Given the description of an element on the screen output the (x, y) to click on. 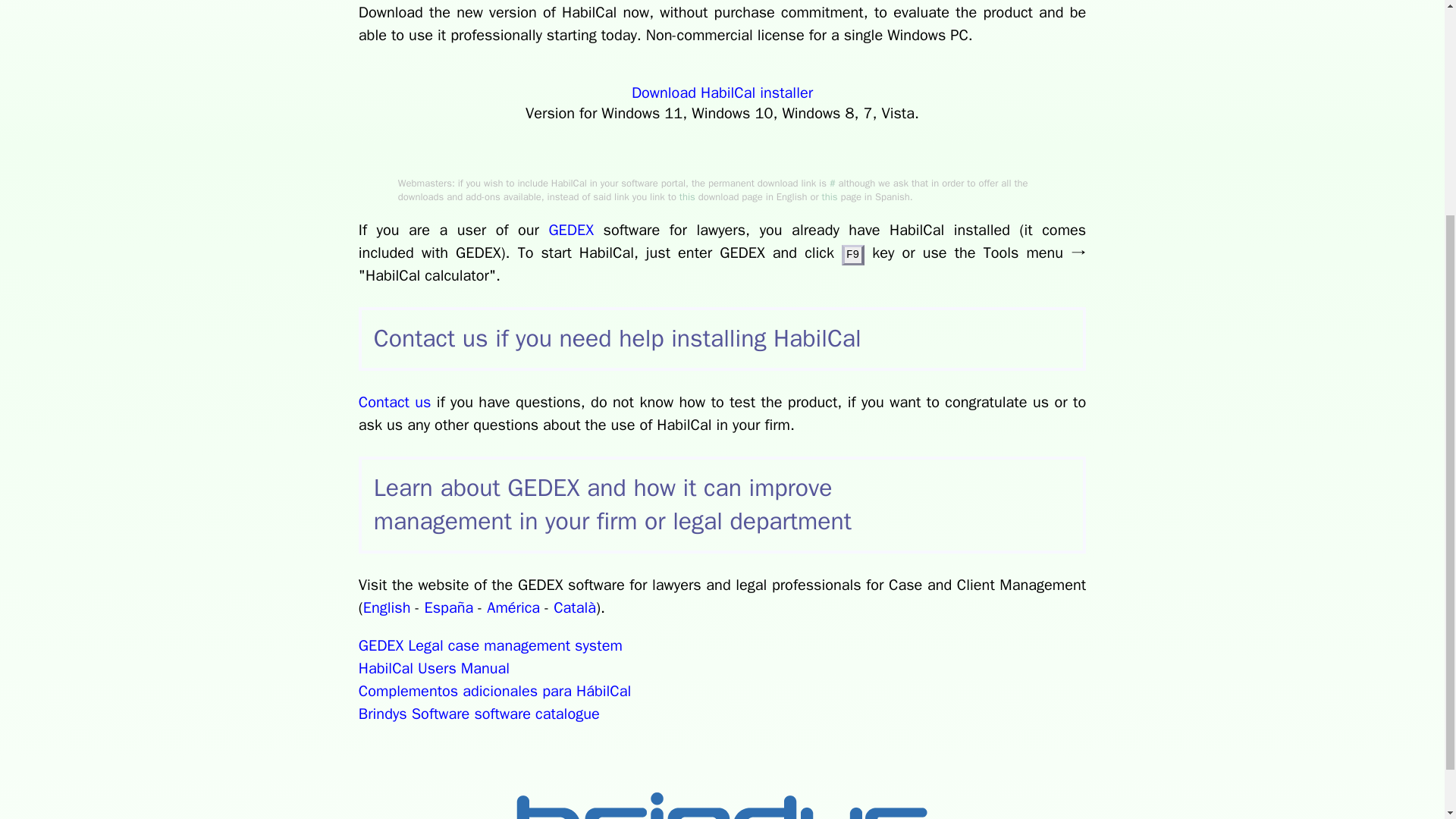
HabilCal Users Manual (433, 668)
GEDEX Legal case management system (490, 645)
English (386, 607)
Contact us (394, 402)
GEDEX (571, 229)
Brindys Software software catalogue (478, 713)
this (687, 196)
